Given the description of an element on the screen output the (x, y) to click on. 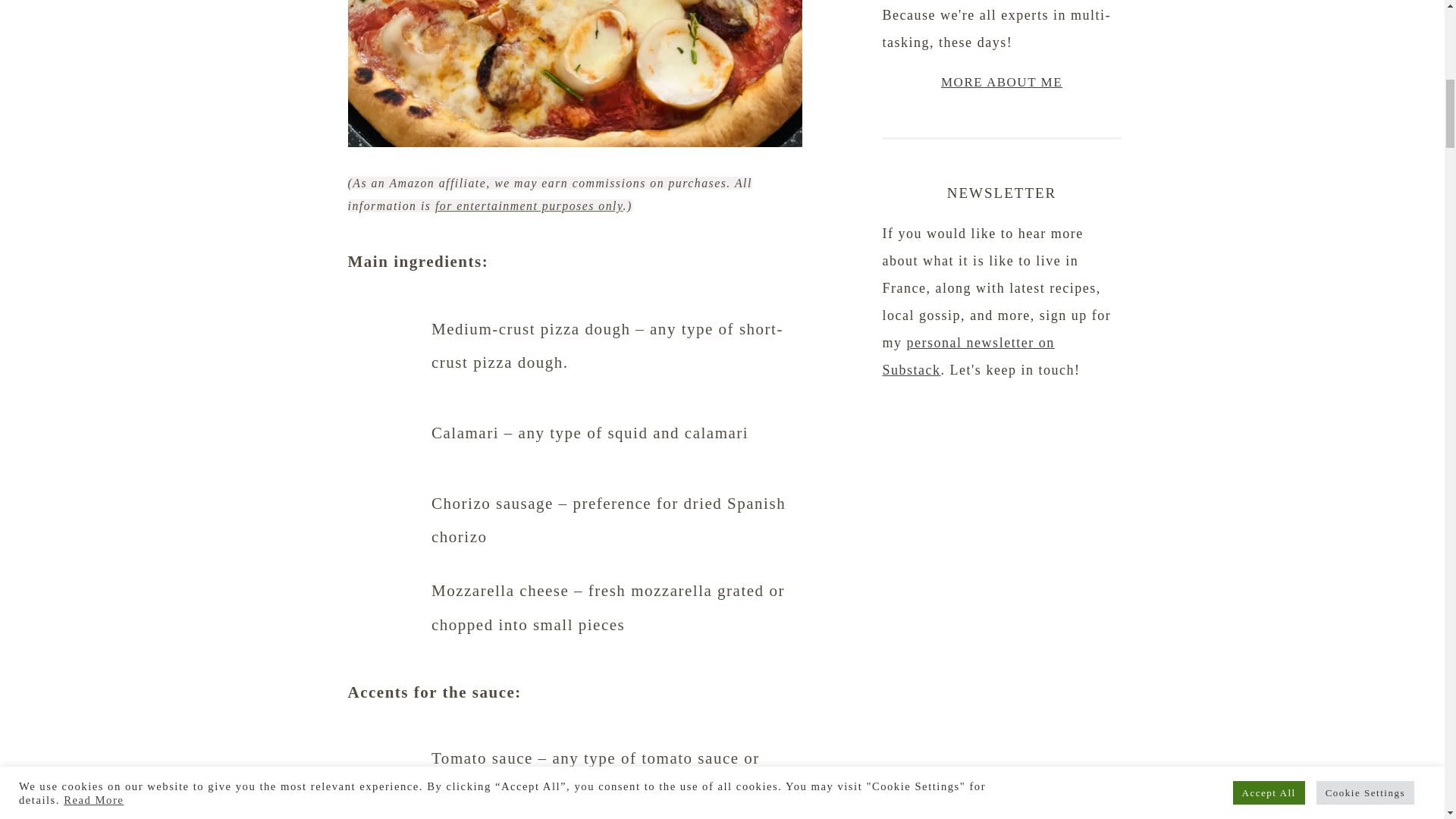
for entertainment purposes only (529, 205)
Calamari and chorizo pizza 1 (574, 74)
Calamari and chorizo pizza 5 (384, 626)
Calamari and chorizo pizza 4 (384, 538)
Calamari and chorizo pizza 6 (384, 810)
Calamari and chorizo pizza 3 (384, 452)
marinara sauce recipe (595, 800)
Calamari and chorizo pizza 2 (384, 364)
